Given the description of an element on the screen output the (x, y) to click on. 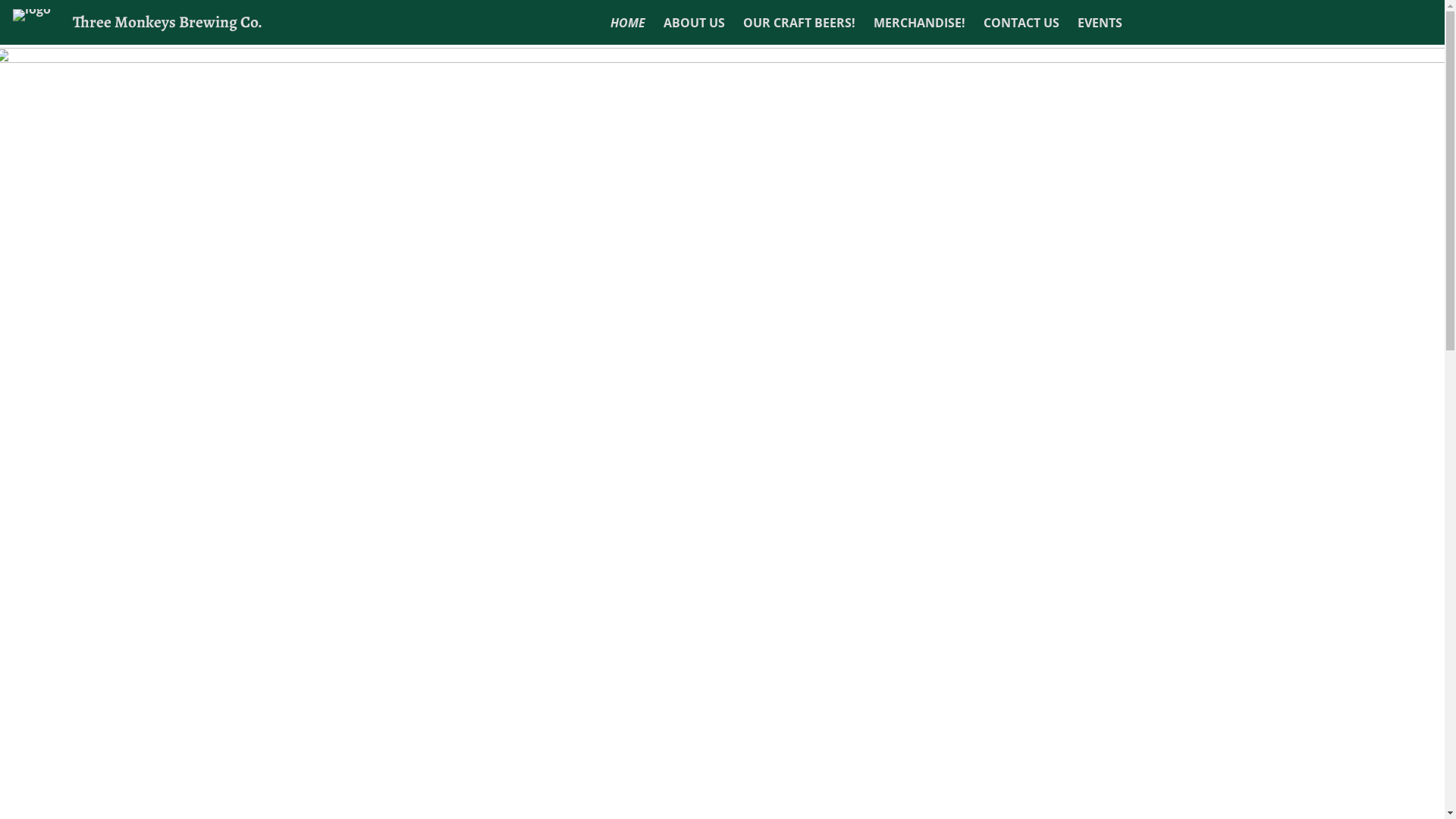
ABOUT US Element type: text (694, 22)
EVENTS Element type: text (1099, 22)
CONTACT US Element type: text (1021, 22)
HOME Element type: text (627, 22)
OUR CRAFT BEERS! Element type: text (799, 22)
MERCHANDISE! Element type: text (919, 22)
Three Monkeys Brewing Co. Element type: text (167, 21)
